Given the description of an element on the screen output the (x, y) to click on. 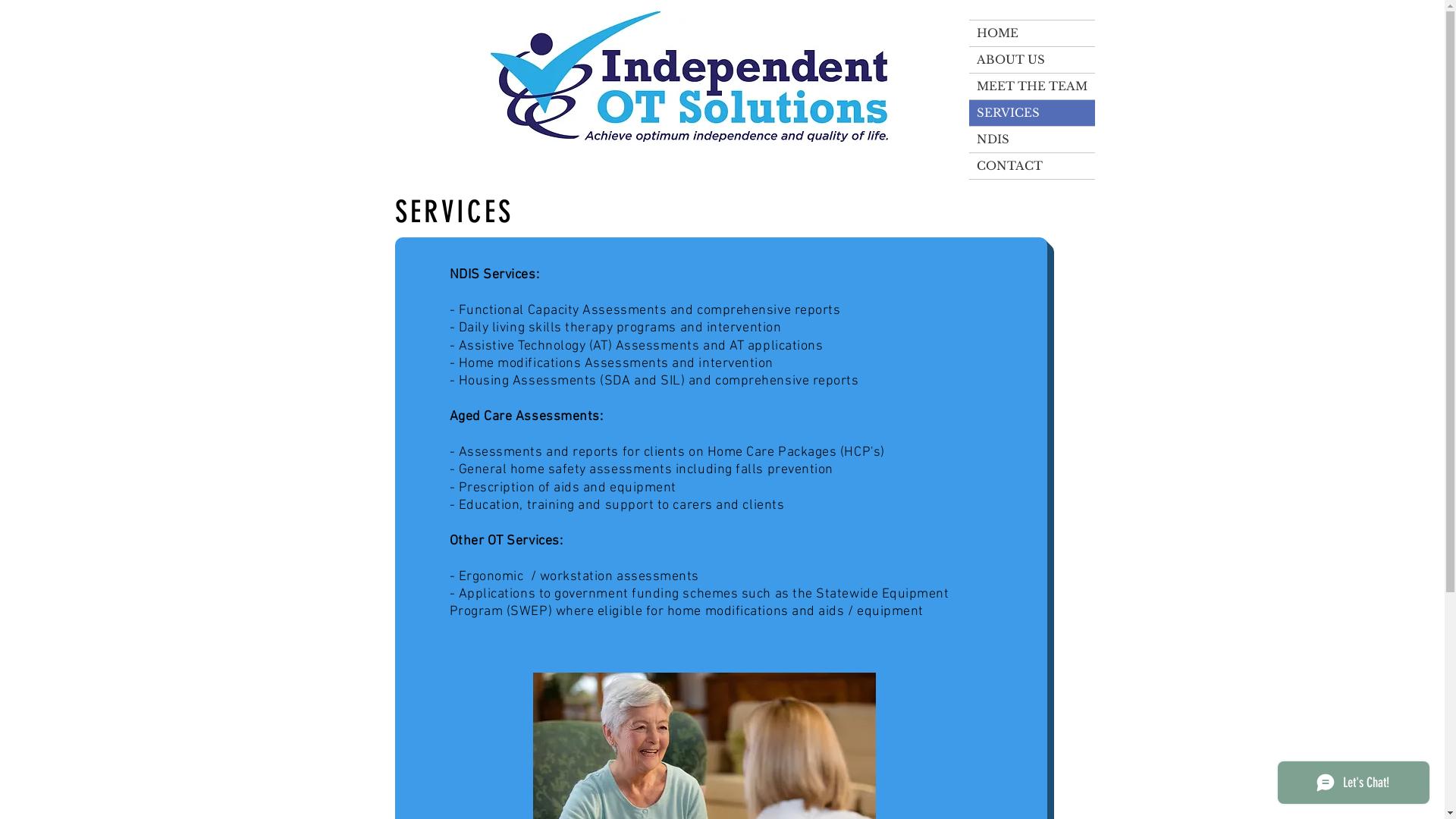
SERVICES Element type: text (1032, 112)
NDIS Element type: text (1032, 139)
CONTACT Element type: text (1032, 165)
HOME Element type: text (1032, 33)
ABOUT US Element type: text (1032, 59)
MEET THE TEAM Element type: text (1032, 86)
